Given the description of an element on the screen output the (x, y) to click on. 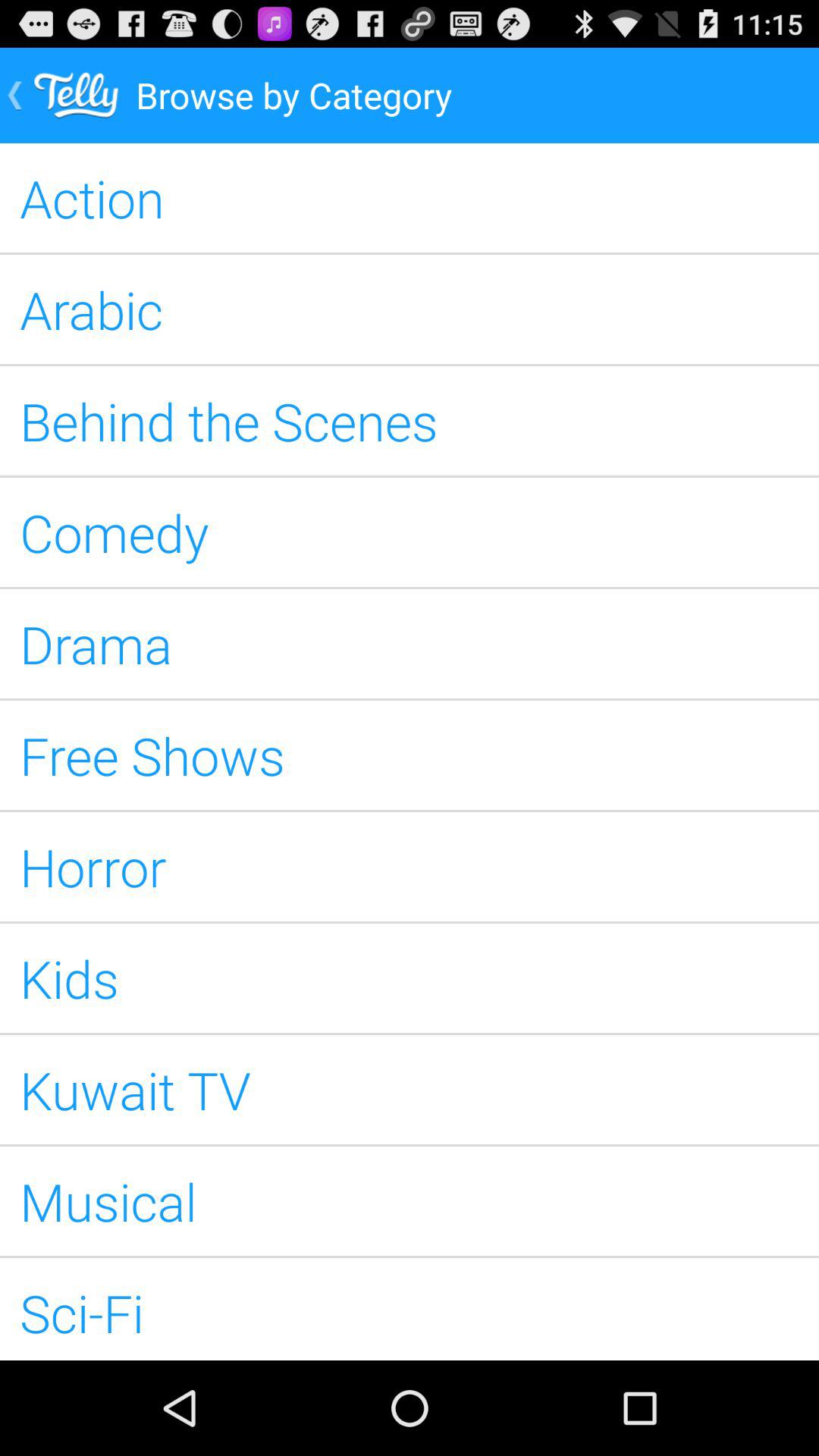
select action item (409, 197)
